Given the description of an element on the screen output the (x, y) to click on. 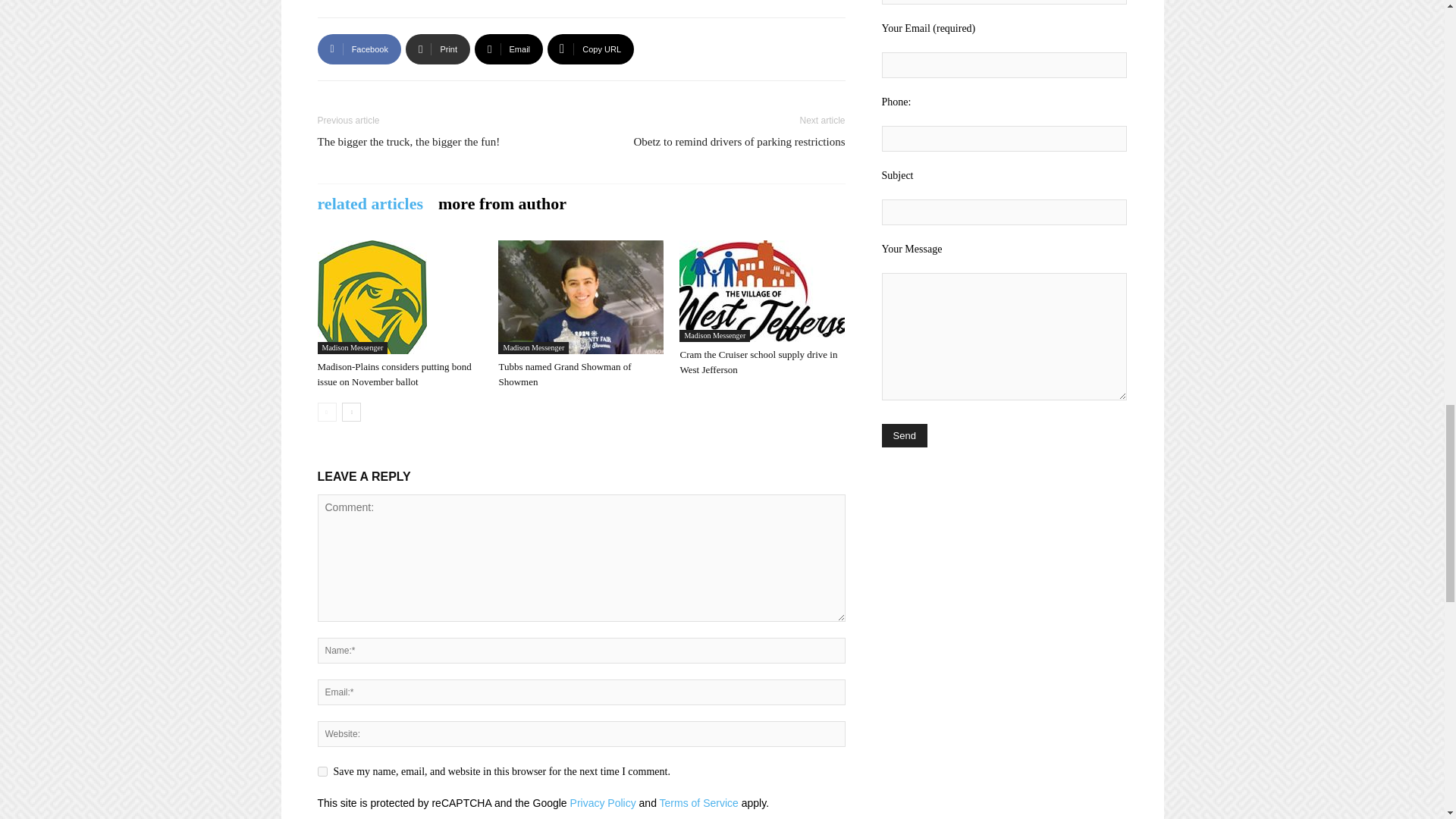
Print (438, 49)
Email (508, 49)
Copy URL (590, 49)
Send (903, 435)
yes (321, 771)
Tubbs named Grand Showman of Showmen (580, 296)
Facebook (358, 49)
